Given the description of an element on the screen output the (x, y) to click on. 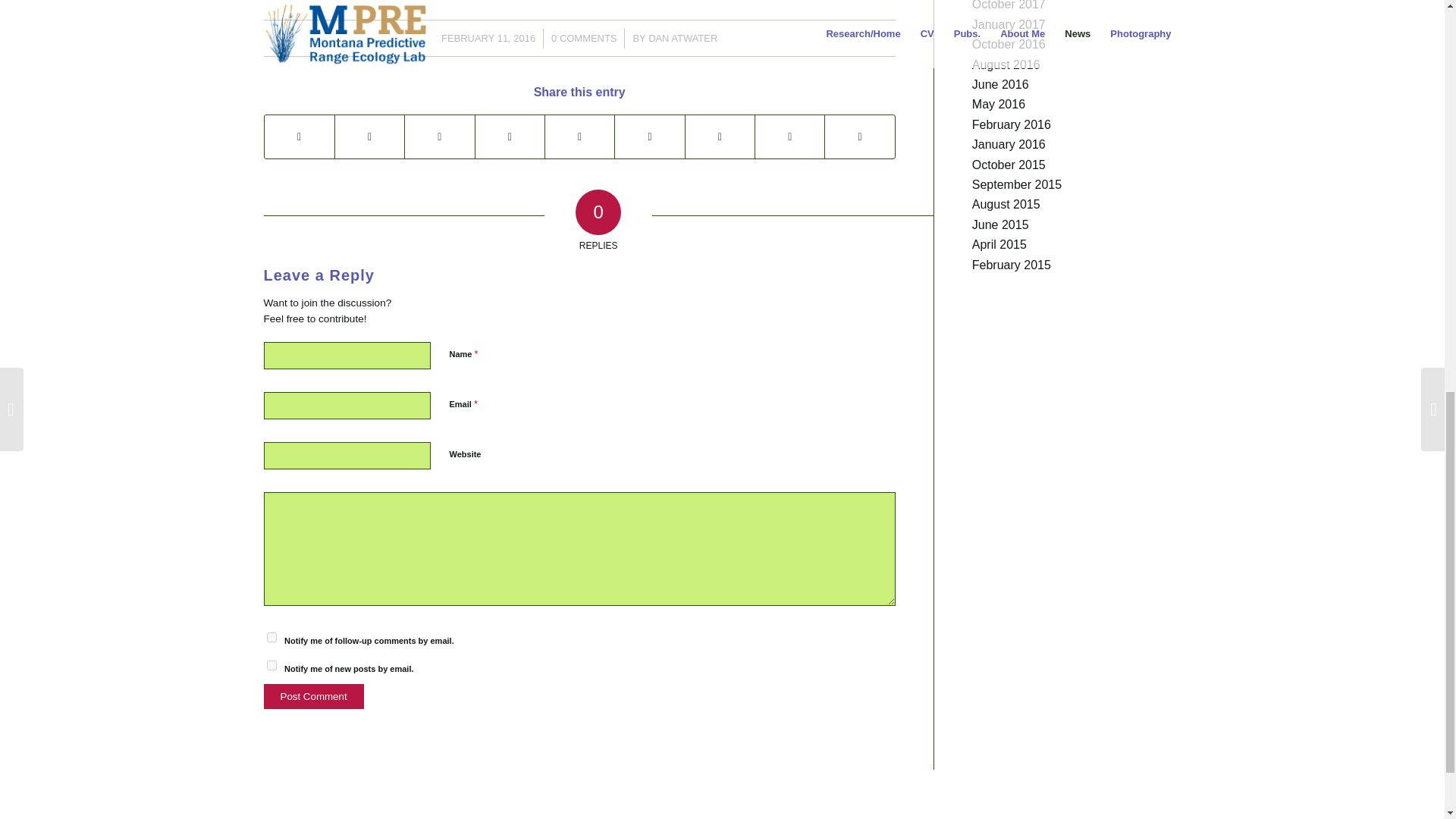
subscribe (271, 665)
Posts by Dan Atwater (682, 38)
Post Comment (313, 696)
Post Comment (313, 696)
subscribe (271, 637)
0 COMMENTS (583, 38)
DAN ATWATER (682, 38)
